Given the description of an element on the screen output the (x, y) to click on. 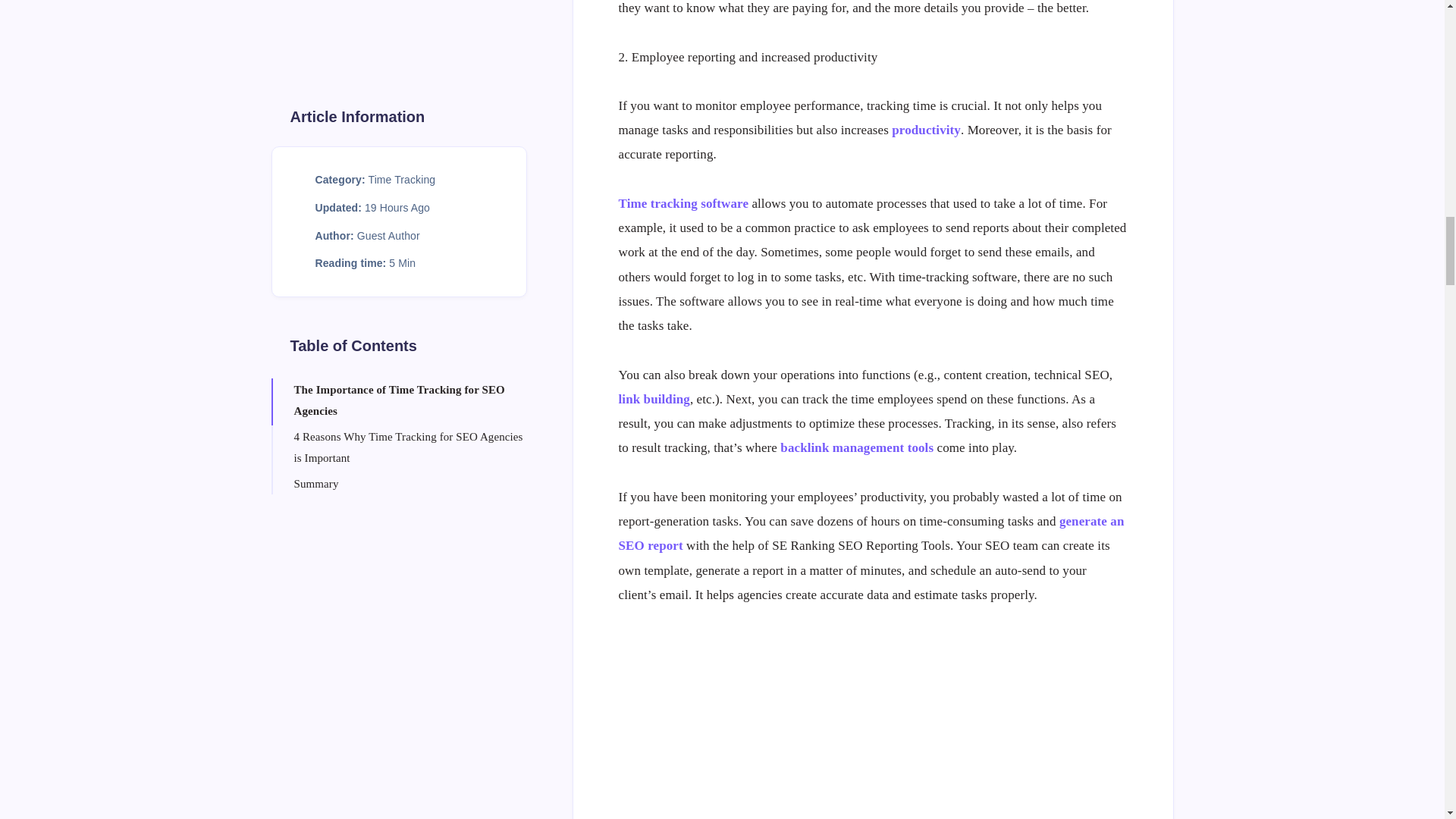
Time tracking software (683, 203)
generate an SEO report (871, 533)
productivity (925, 129)
link building (654, 399)
backlink management tools (856, 447)
